Given the description of an element on the screen output the (x, y) to click on. 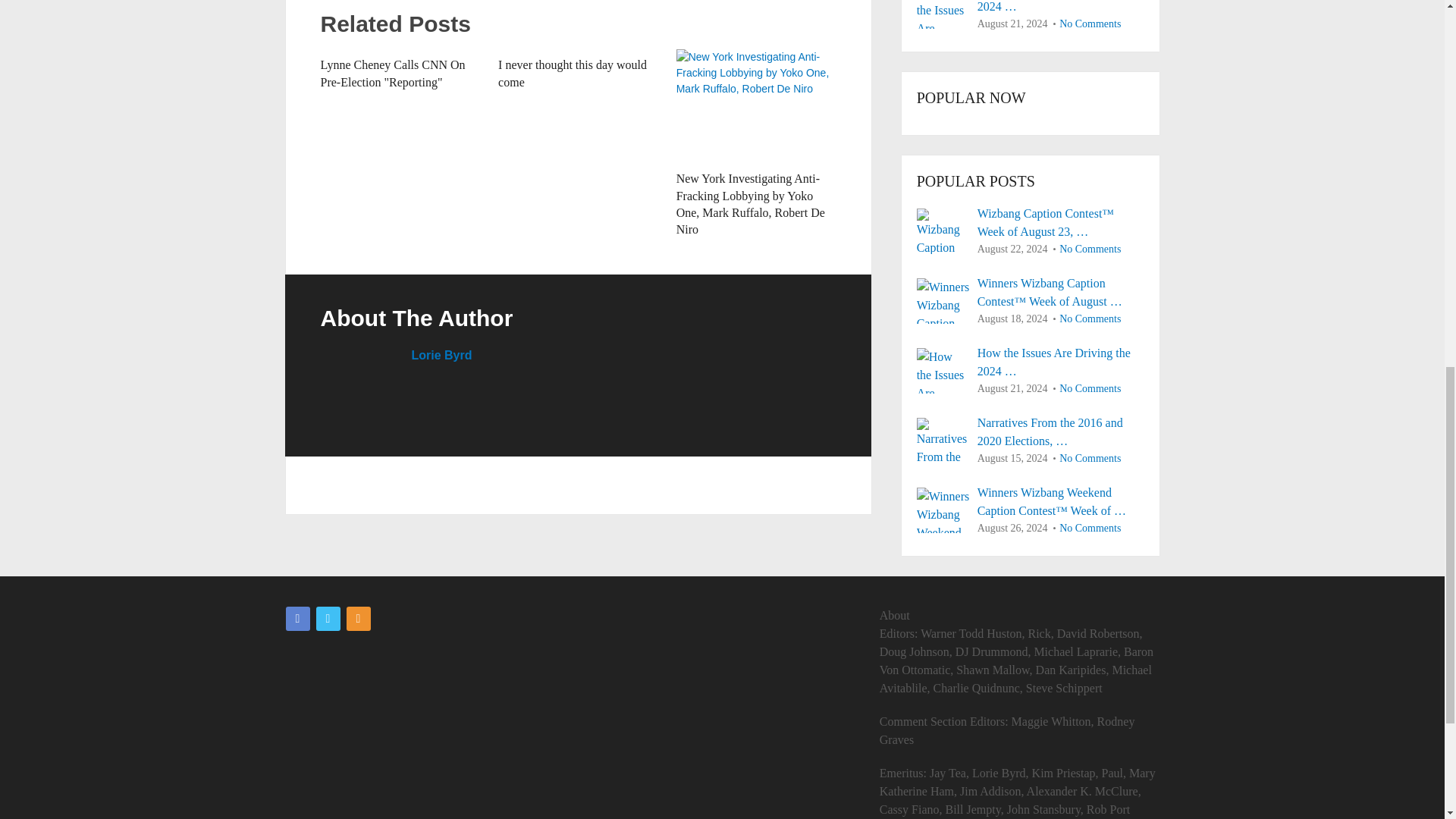
I never thought this day would come (571, 72)
Lynne Cheney Calls CNN On Pre-Election "Reporting" (392, 72)
Lynne Cheney Calls CNN On Pre-Election "Reporting" (392, 72)
Lorie Byrd (440, 354)
I never thought this day would come (571, 72)
